Given the description of an element on the screen output the (x, y) to click on. 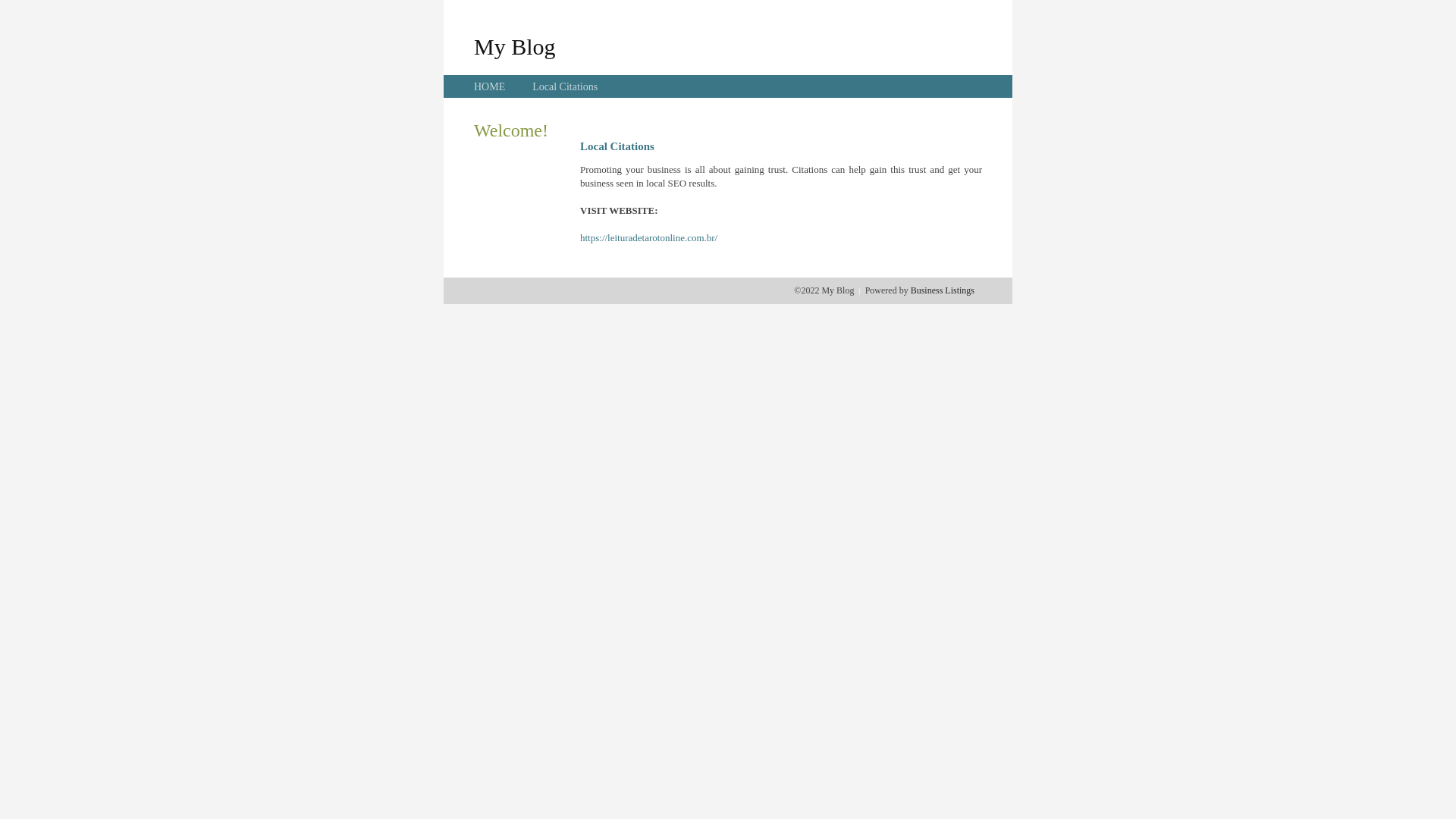
HOME Element type: text (489, 86)
https://leituradetarotonline.com.br/ Element type: text (648, 237)
Business Listings Element type: text (942, 290)
My Blog Element type: text (514, 46)
Local Citations Element type: text (564, 86)
